Given the description of an element on the screen output the (x, y) to click on. 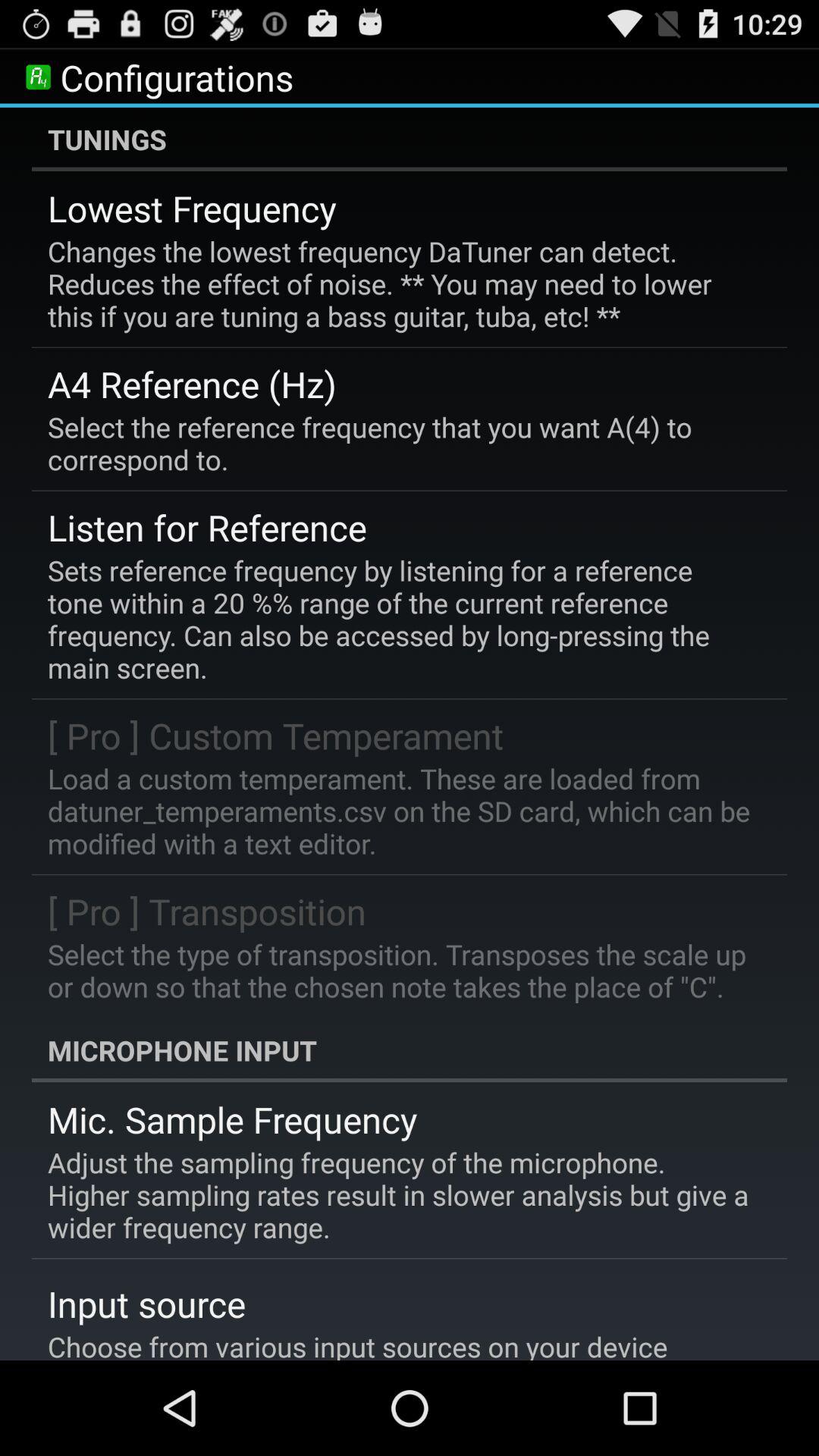
open the icon above the adjust the sampling app (232, 1119)
